Given the description of an element on the screen output the (x, y) to click on. 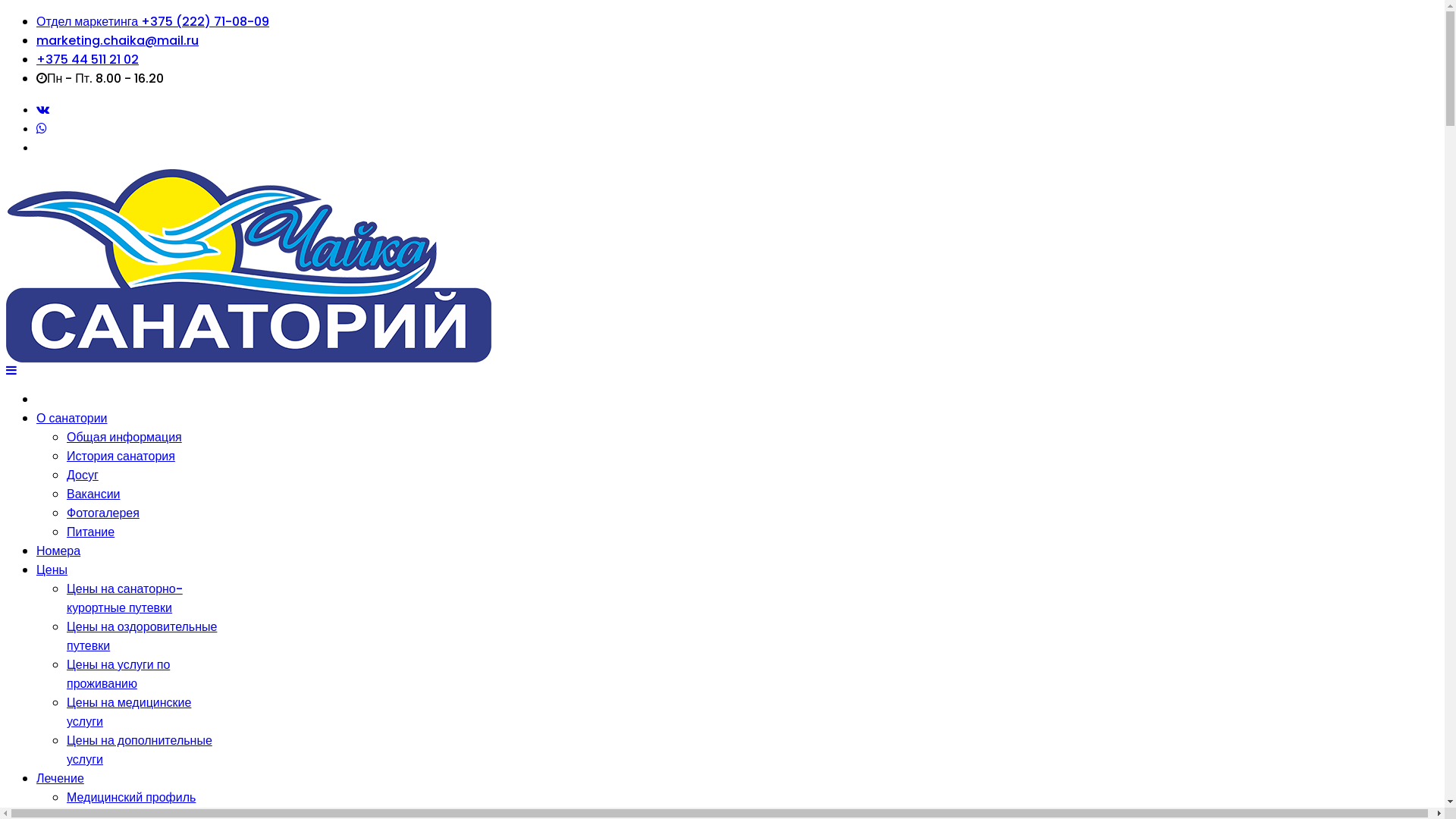
+375 44 511 21 02 Element type: text (87, 59)
marketing.chaika@mail.ru Element type: text (117, 40)
